Given the description of an element on the screen output the (x, y) to click on. 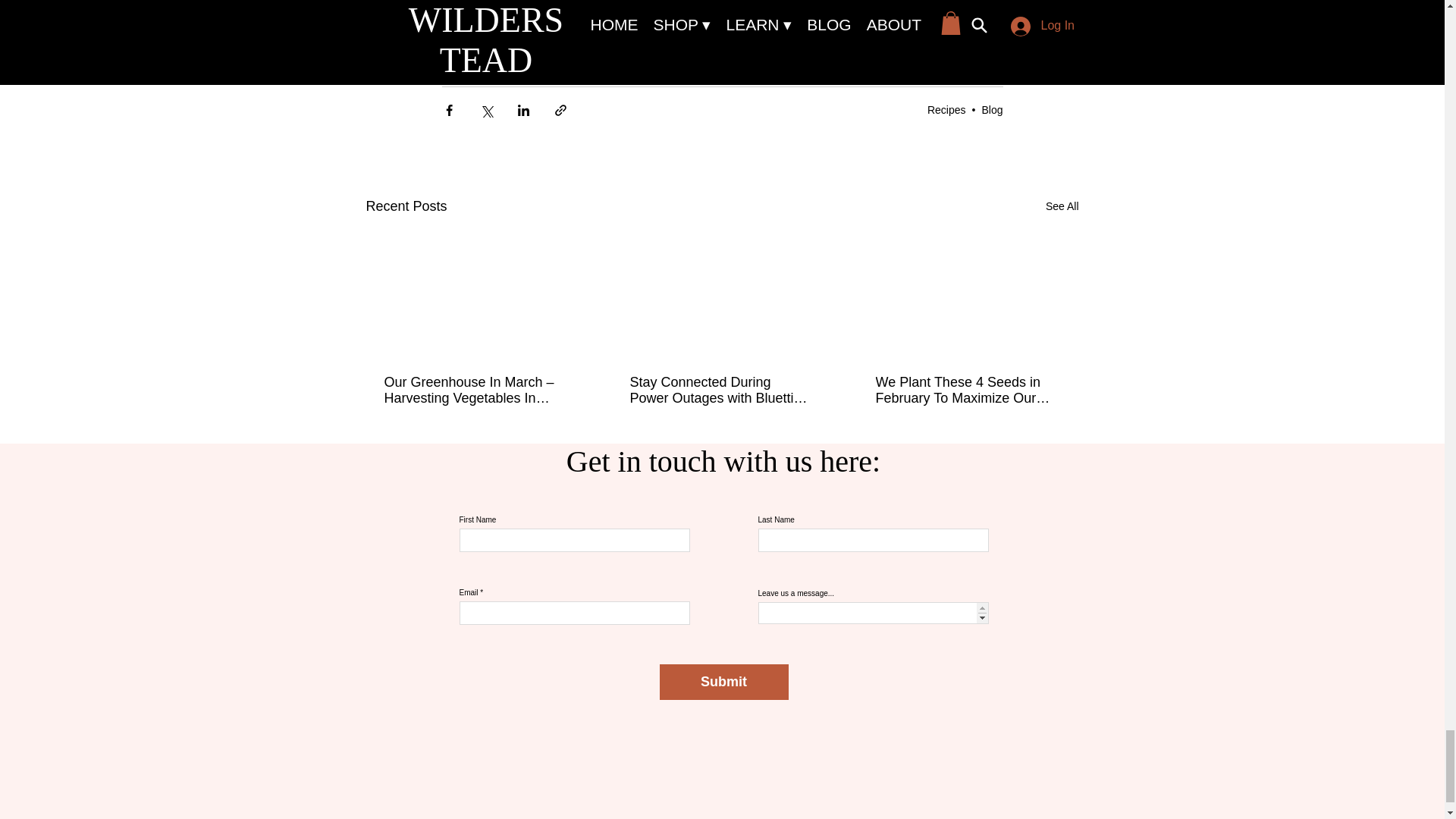
Submit (724, 682)
Stay Connected During Power Outages with Bluetti EB3A (720, 390)
Recipes (946, 110)
Blog (992, 110)
See All (1061, 206)
